Given the description of an element on the screen output the (x, y) to click on. 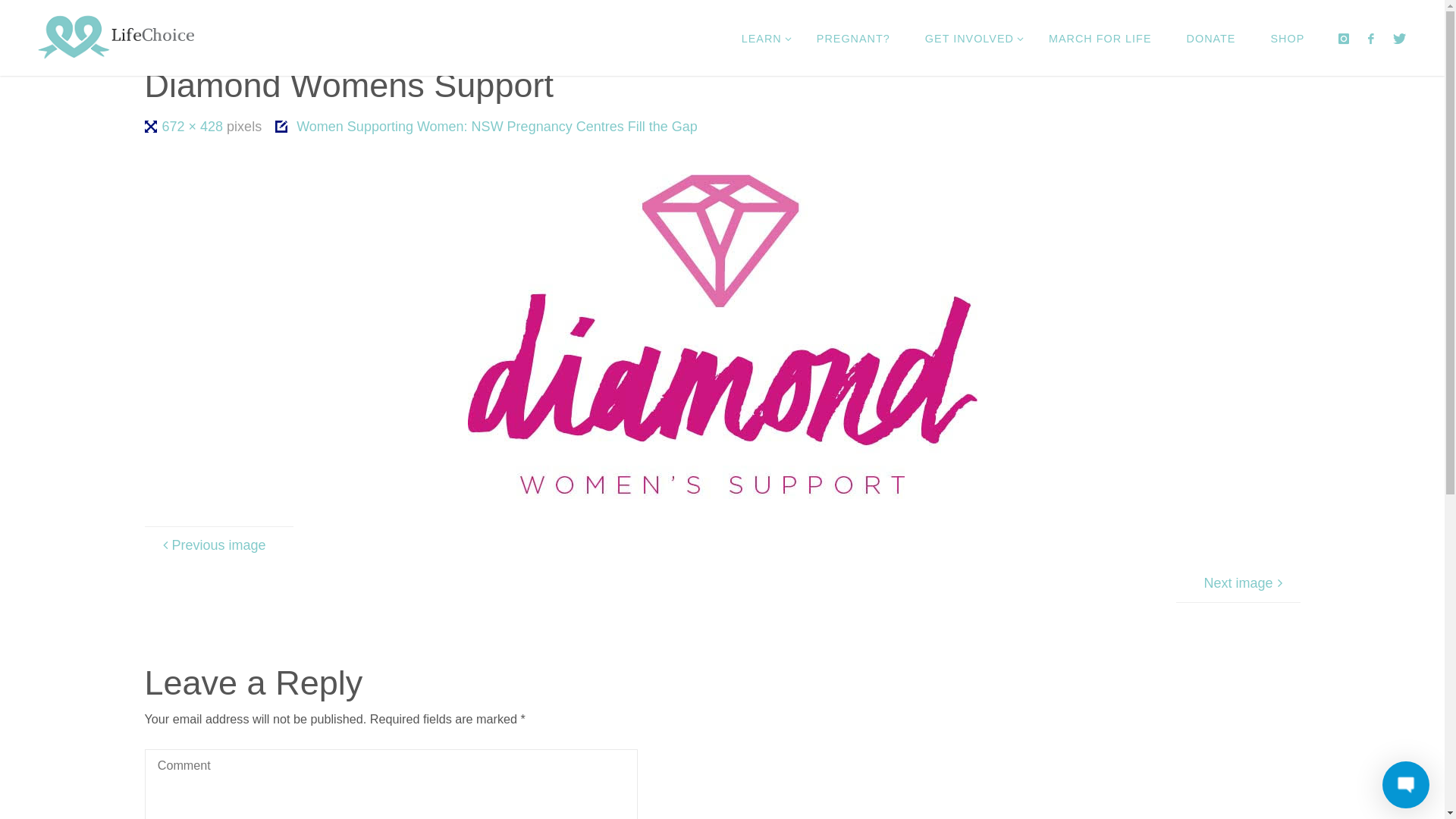
Women Supporting Women: NSW Pregnancy Centres Fill the Gap Element type: text (495, 126)
Instagram Element type: hover (1343, 38)
DONATE Element type: text (1211, 37)
Women Supporting Women: NSW Pregnancy Centres Fill the Gap Element type: text (410, 95)
Twitter Element type: hover (1399, 38)
GET INVOLVED Element type: text (969, 37)
Blog Element type: text (191, 95)
LEARN Element type: text (761, 37)
Home Element type: text (150, 95)
PREGNANT? Element type: text (853, 37)
Published in Element type: hover (282, 126)
MARCH FOR LIFE Element type: text (1100, 37)
Facebook Element type: hover (1370, 38)
LifeChoice Australia Element type: hover (116, 37)
Next image Element type: text (1237, 583)
SHOP Element type: text (1286, 37)
Previous image Element type: text (218, 545)
Full size Element type: hover (151, 126)
